Given the description of an element on the screen output the (x, y) to click on. 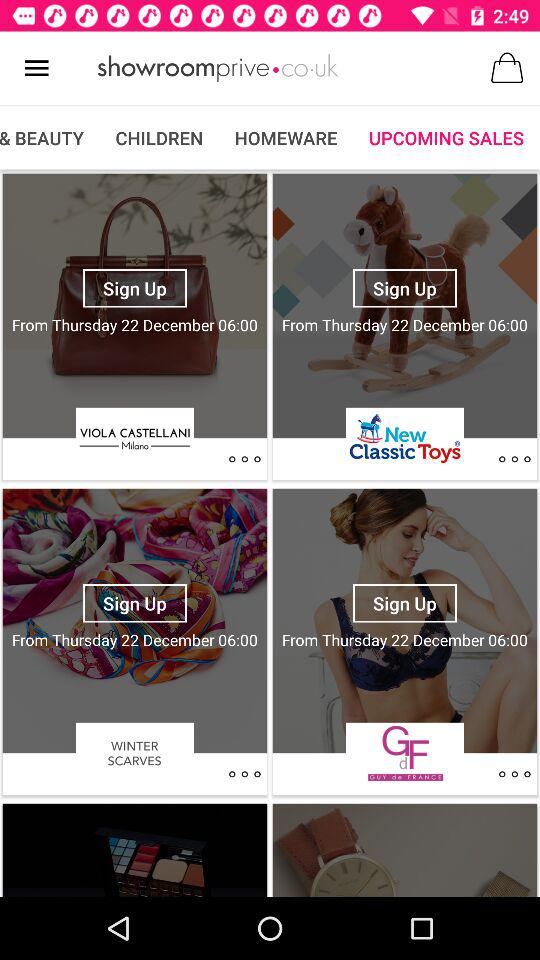
three consecutive circles (244, 459)
